Given the description of an element on the screen output the (x, y) to click on. 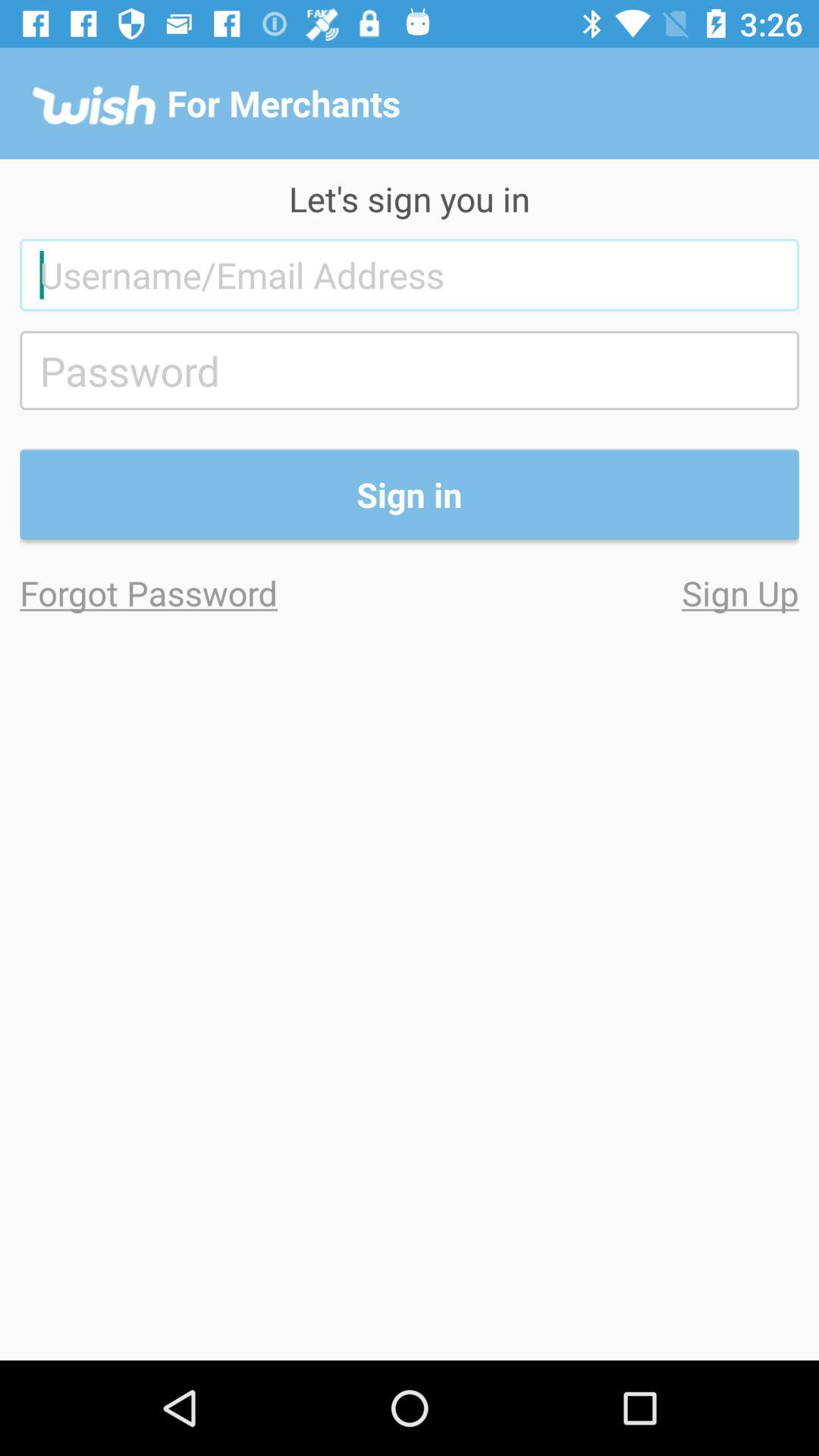
click the icon below the sign in item (604, 592)
